Given the description of an element on the screen output the (x, y) to click on. 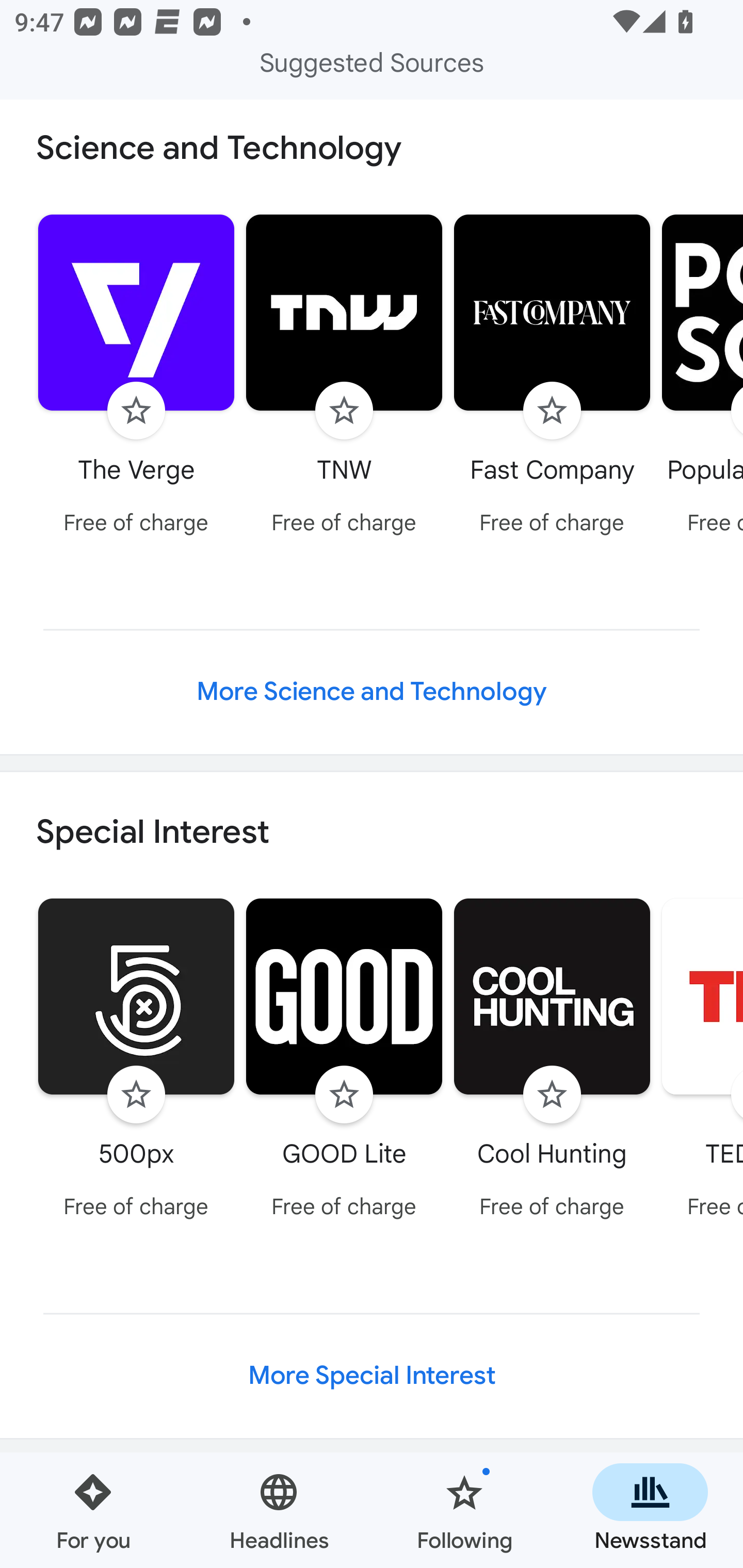
Search (57, 64)
Science and Technology (371, 153)
Follow The Verge Free of charge (136, 376)
Follow TNW Free of charge (344, 376)
Follow Fast Company Free of charge (552, 376)
Follow (135, 410)
Follow (343, 410)
Follow (552, 410)
More Science and Technology (371, 692)
Special Interest (371, 831)
Follow 500px Free of charge (136, 1061)
Follow GOOD Lite Free of charge (344, 1061)
Follow Cool Hunting Free of charge (552, 1061)
Follow (135, 1094)
Follow (343, 1094)
Follow (552, 1094)
More Special Interest (371, 1375)
For you (92, 1509)
Headlines (278, 1509)
Following (464, 1509)
Newsstand (650, 1509)
